Given the description of an element on the screen output the (x, y) to click on. 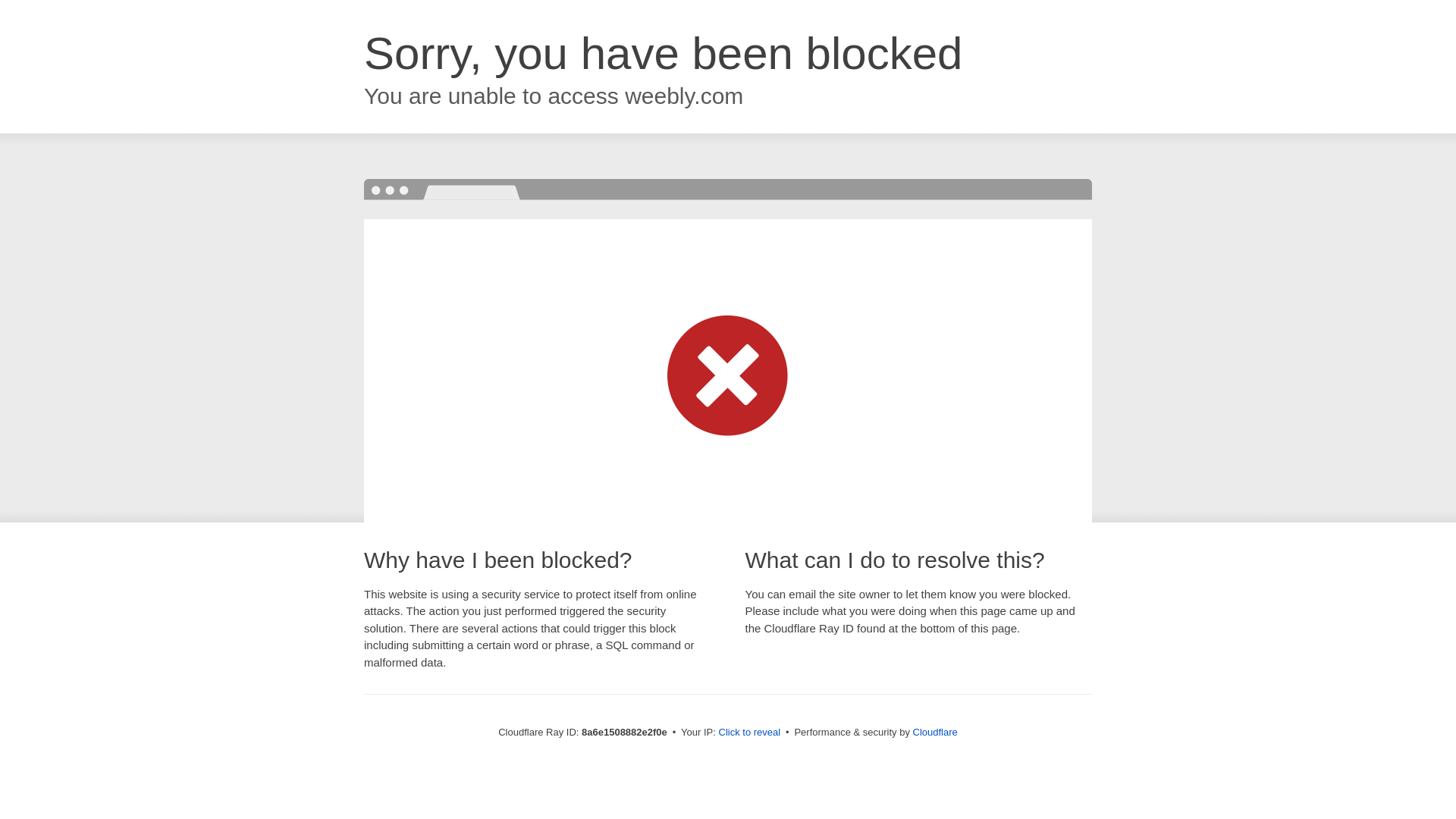
Click to reveal (749, 732)
Cloudflare (935, 731)
